Given the description of an element on the screen output the (x, y) to click on. 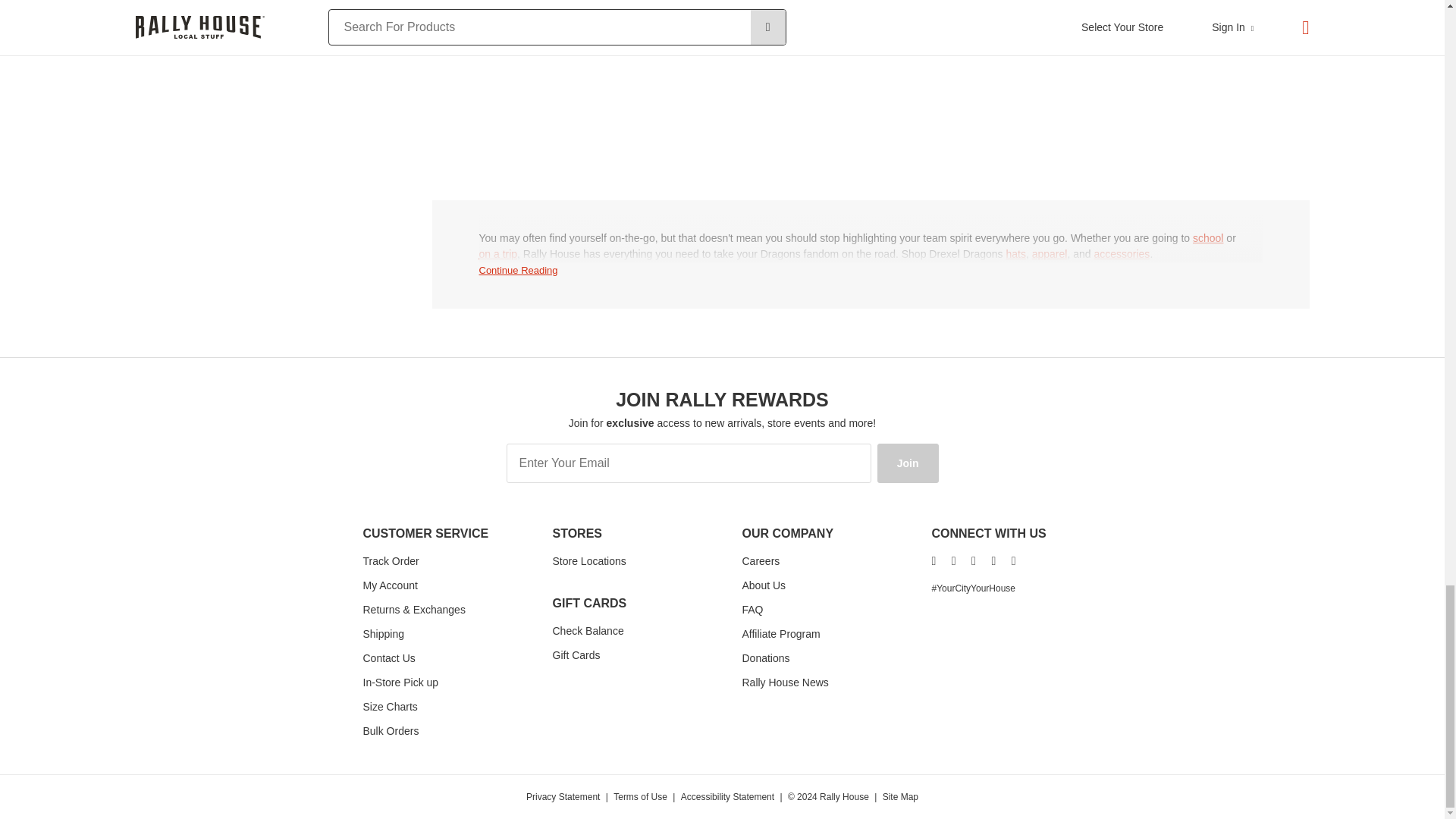
Shop Drexel Dragons Accessories (1121, 254)
Shop Drexel Dragons Luggage (498, 254)
Shop Drexel Dragons Apparel (1049, 254)
Shop Drexel Dragons hats (1015, 254)
Shop Drexel Dragons Backpacks (1207, 238)
